Given the description of an element on the screen output the (x, y) to click on. 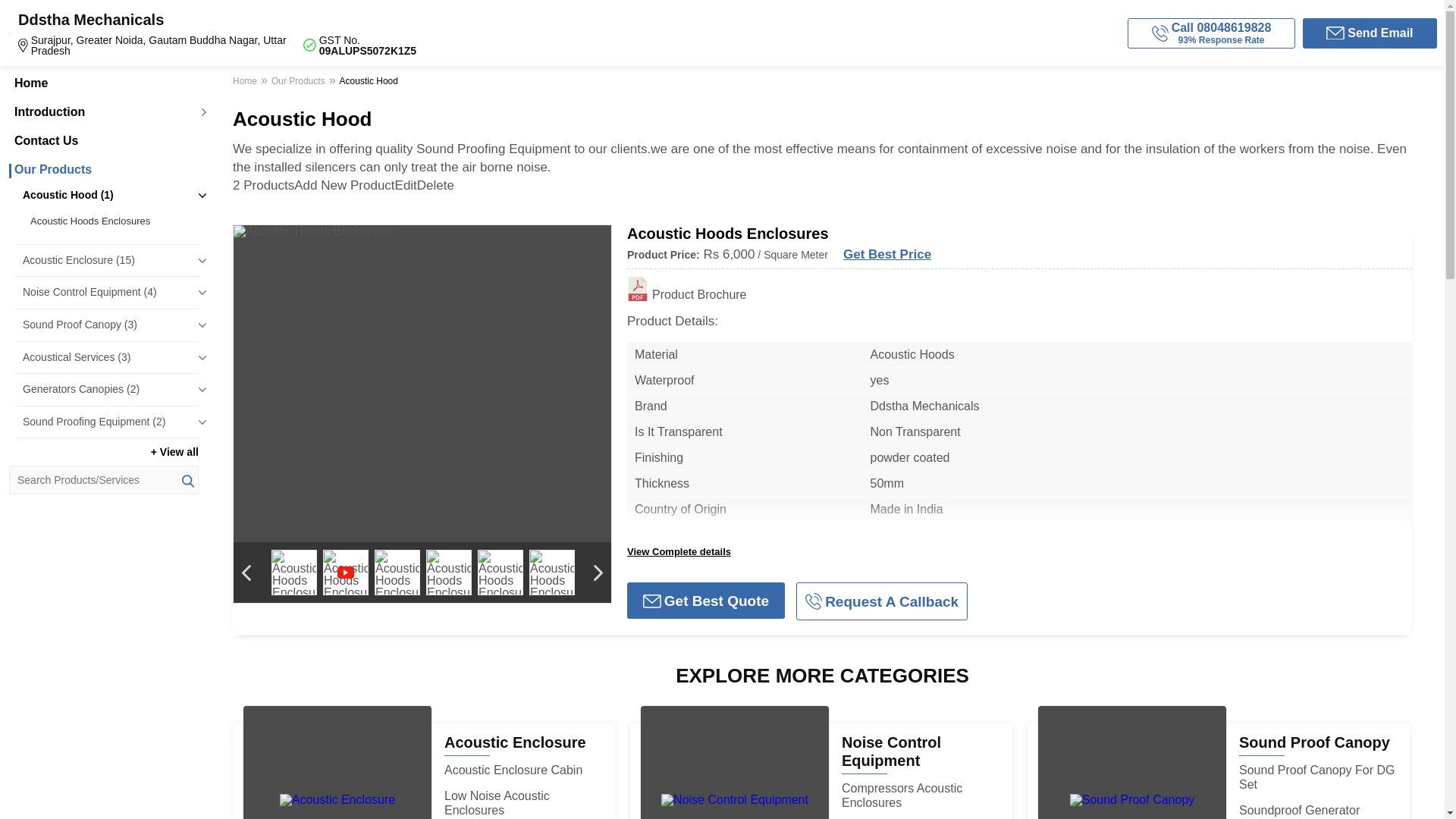
Contact Us (103, 141)
Our Products (103, 169)
Home (103, 82)
Our Products (298, 83)
Introduction (103, 111)
Acoustic Hoods Enclosures (110, 221)
Home (246, 83)
